Given the description of an element on the screen output the (x, y) to click on. 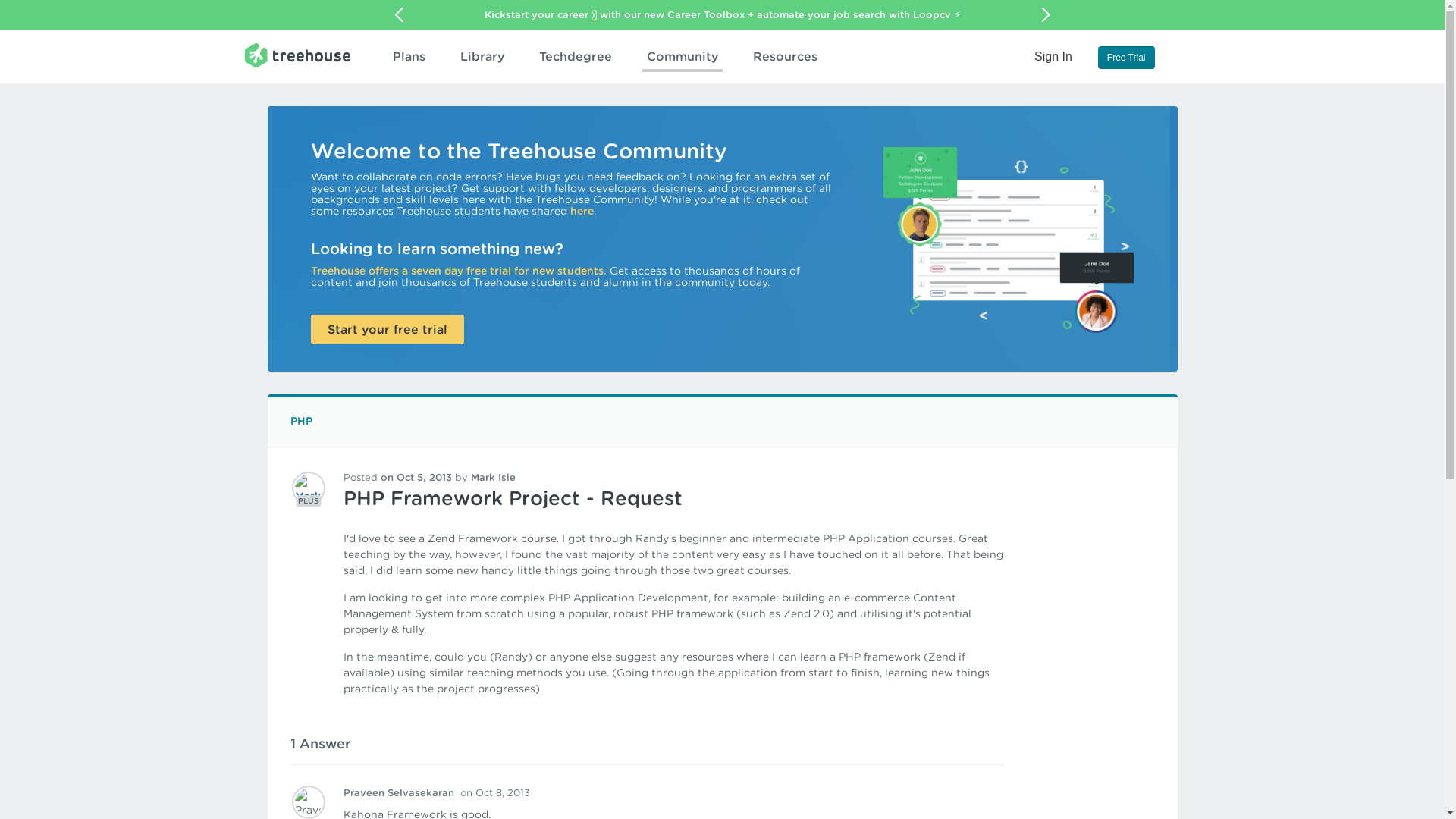
Career Toolbox (705, 14)
Library (481, 56)
Plans (408, 56)
October 5, 2013 at 2:33am CST (415, 477)
October 8, 2013 at 4:17am CST (494, 792)
Loopcv (931, 14)
Treehouse Logo (296, 55)
Treehouse Logo (296, 55)
